Given the description of an element on the screen output the (x, y) to click on. 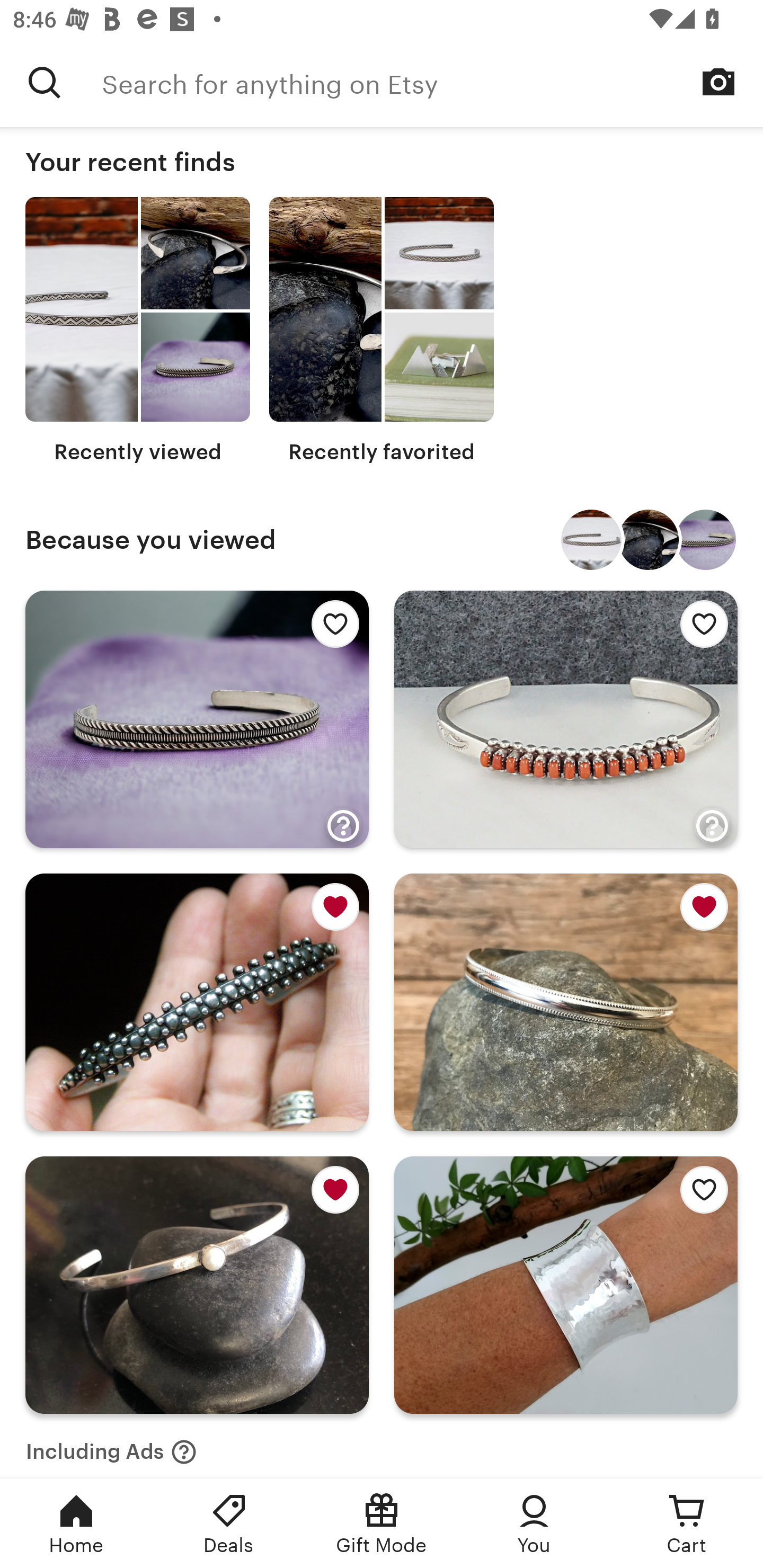
Search for anything on Etsy (44, 82)
Search by image (718, 81)
Search for anything on Etsy (432, 82)
Recently viewed (137, 330)
Recently favorited (381, 330)
Including Ads (111, 1446)
Deals (228, 1523)
Gift Mode (381, 1523)
You (533, 1523)
Cart (686, 1523)
